Given the description of an element on the screen output the (x, y) to click on. 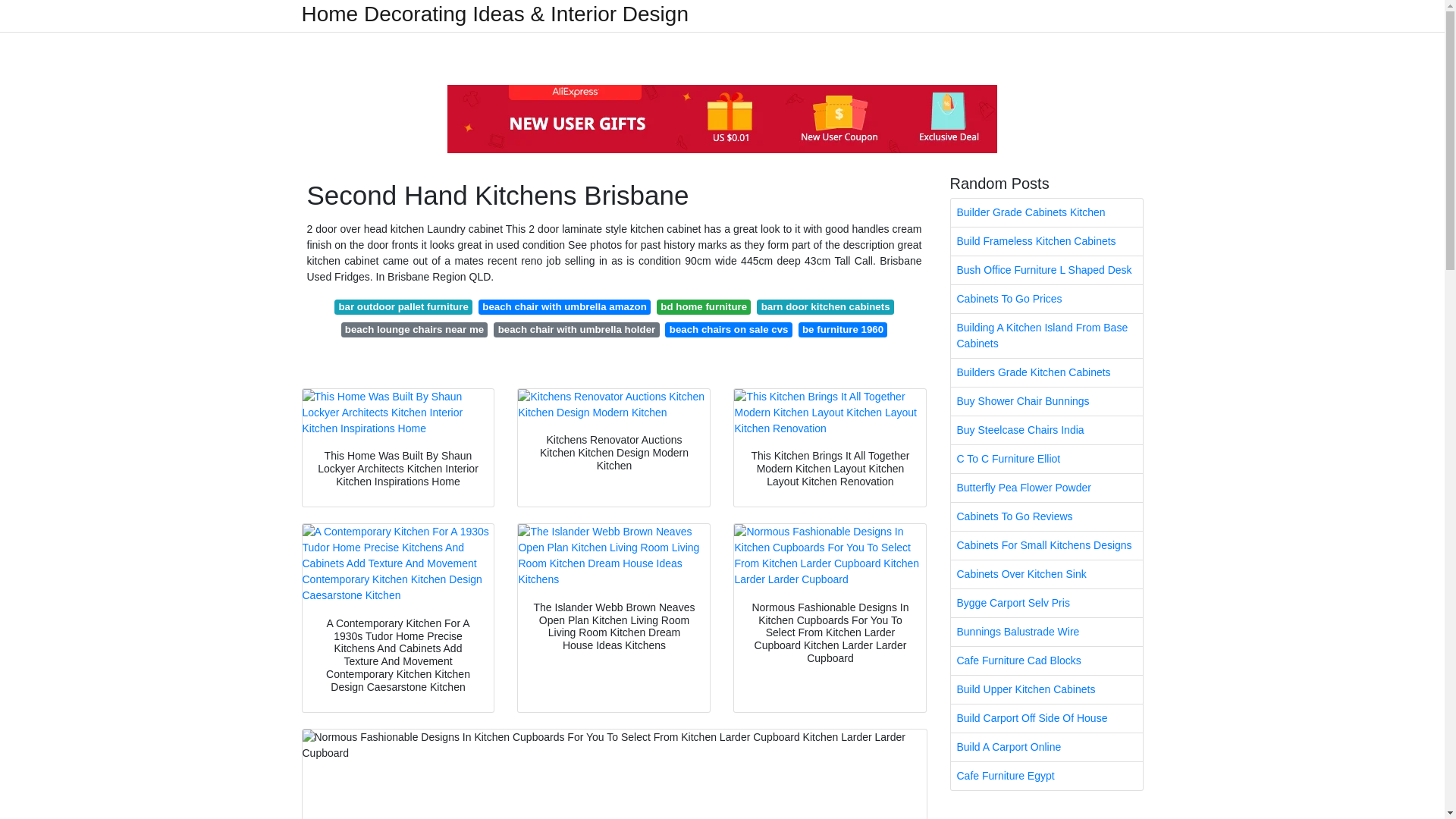
bar outdoor pallet furniture (402, 306)
beach chair with umbrella holder (576, 329)
beach lounge chairs near me (413, 329)
Builders Grade Kitchen Cabinets (1046, 372)
Buy Shower Chair Bunnings (1046, 401)
beach chair with umbrella amazon (564, 306)
Buy Steelcase Chairs India (1046, 430)
be furniture 1960 (842, 329)
Bush Office Furniture L Shaped Desk (1046, 270)
Build Frameless Kitchen Cabinets (1046, 241)
